Given the description of an element on the screen output the (x, y) to click on. 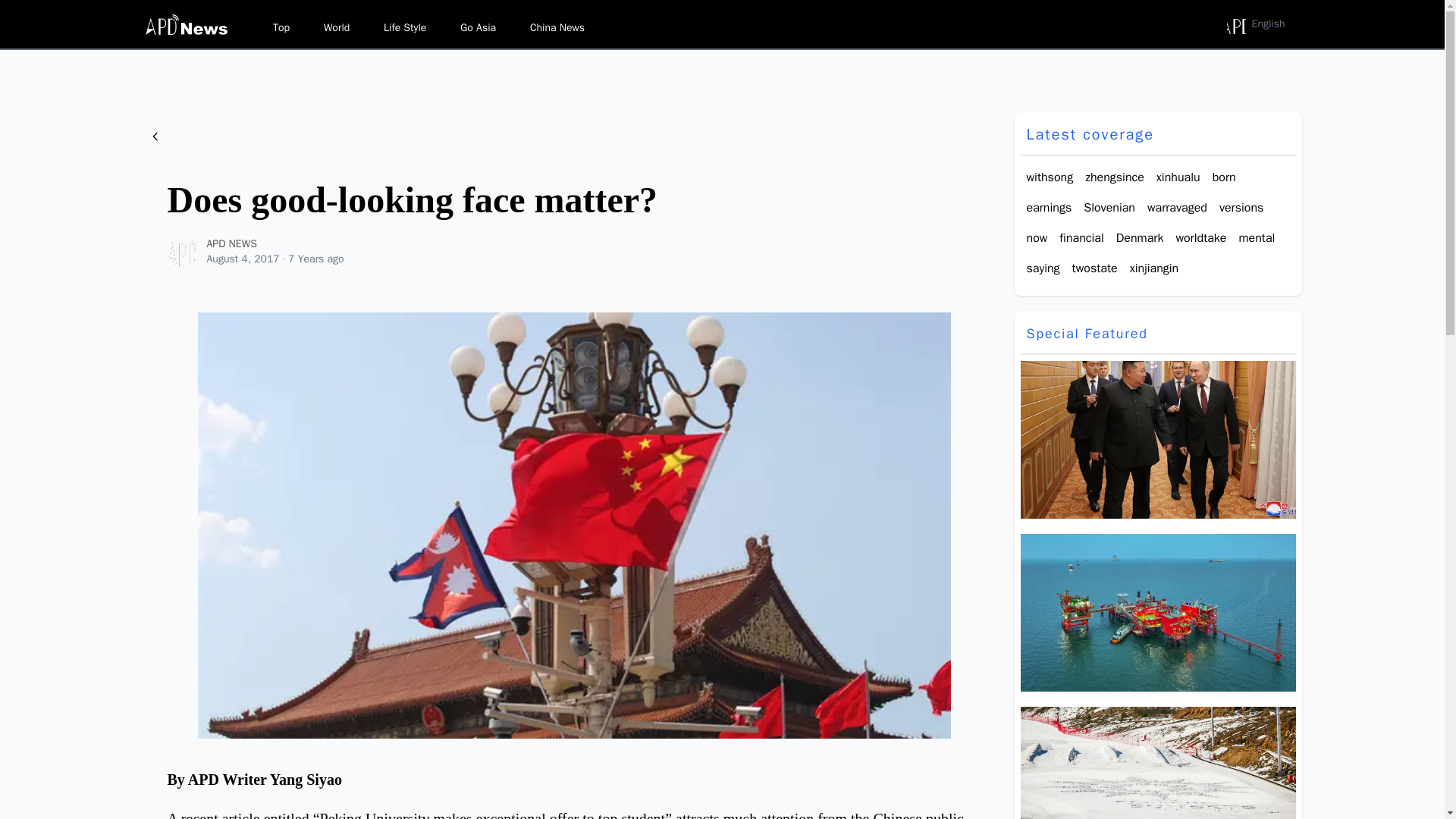
xinhualu (1177, 177)
zhengsince (1114, 177)
World (336, 27)
worldtake (1199, 238)
warravaged (1177, 208)
twostate (1094, 268)
xinjiangin (1154, 268)
Slovenian (1109, 208)
versions (1241, 208)
